Given the description of an element on the screen output the (x, y) to click on. 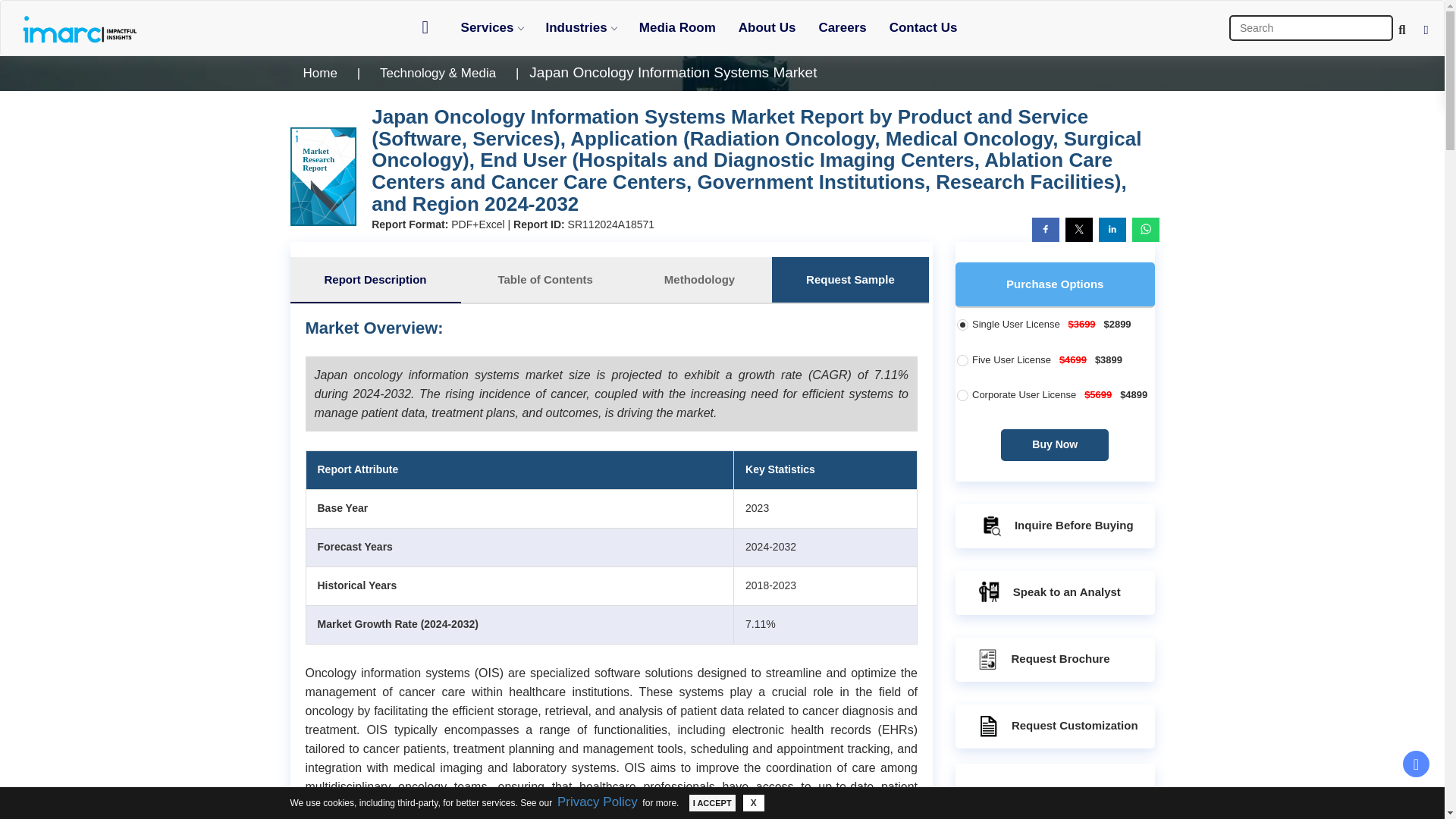
Media Room (676, 27)
Services (491, 27)
About Us (767, 27)
Careers (841, 27)
Contact Us (923, 27)
Industries (580, 27)
